Given the description of an element on the screen output the (x, y) to click on. 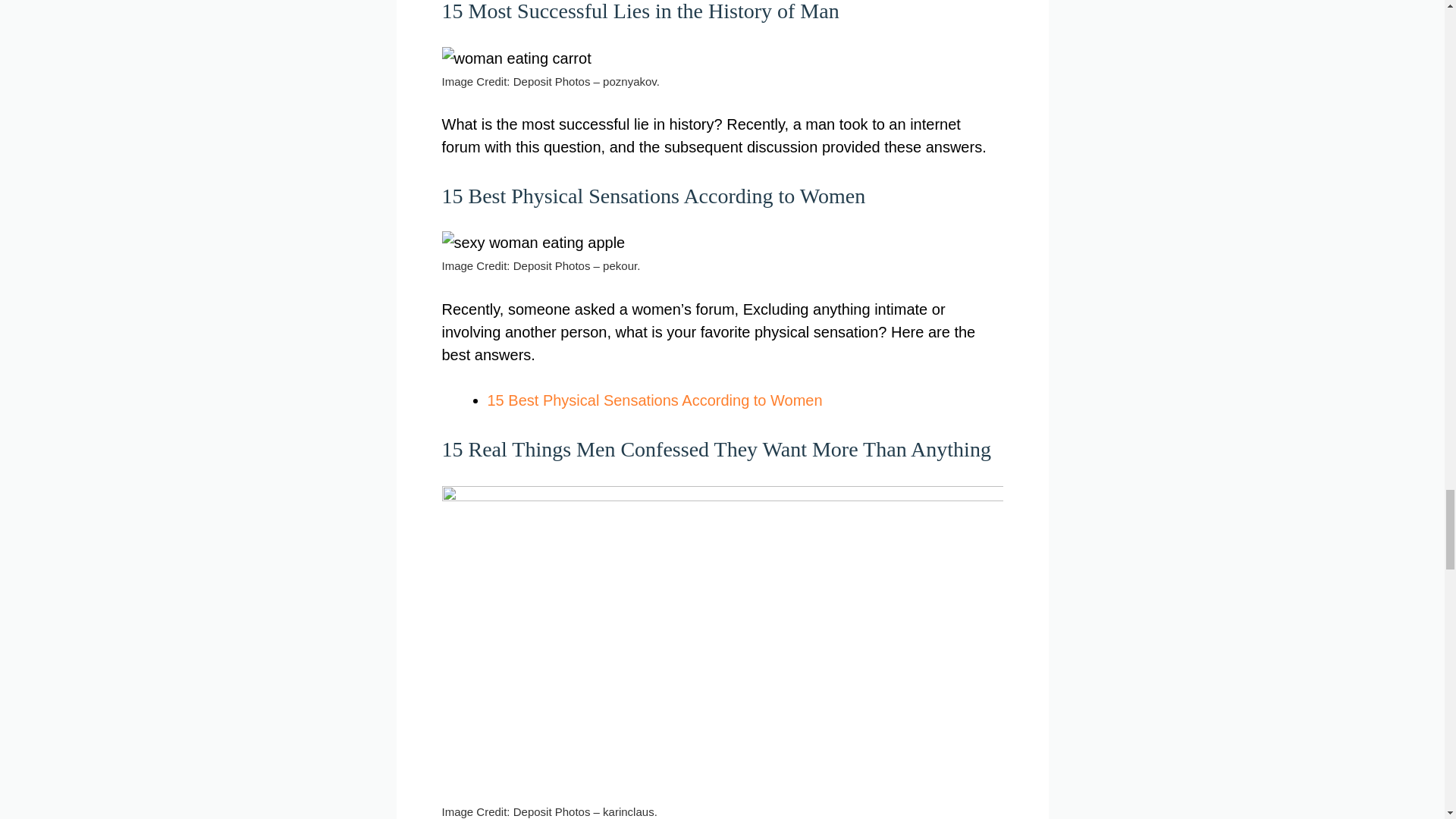
15 Best Physical Sensations According to Women (654, 400)
